Given the description of an element on the screen output the (x, y) to click on. 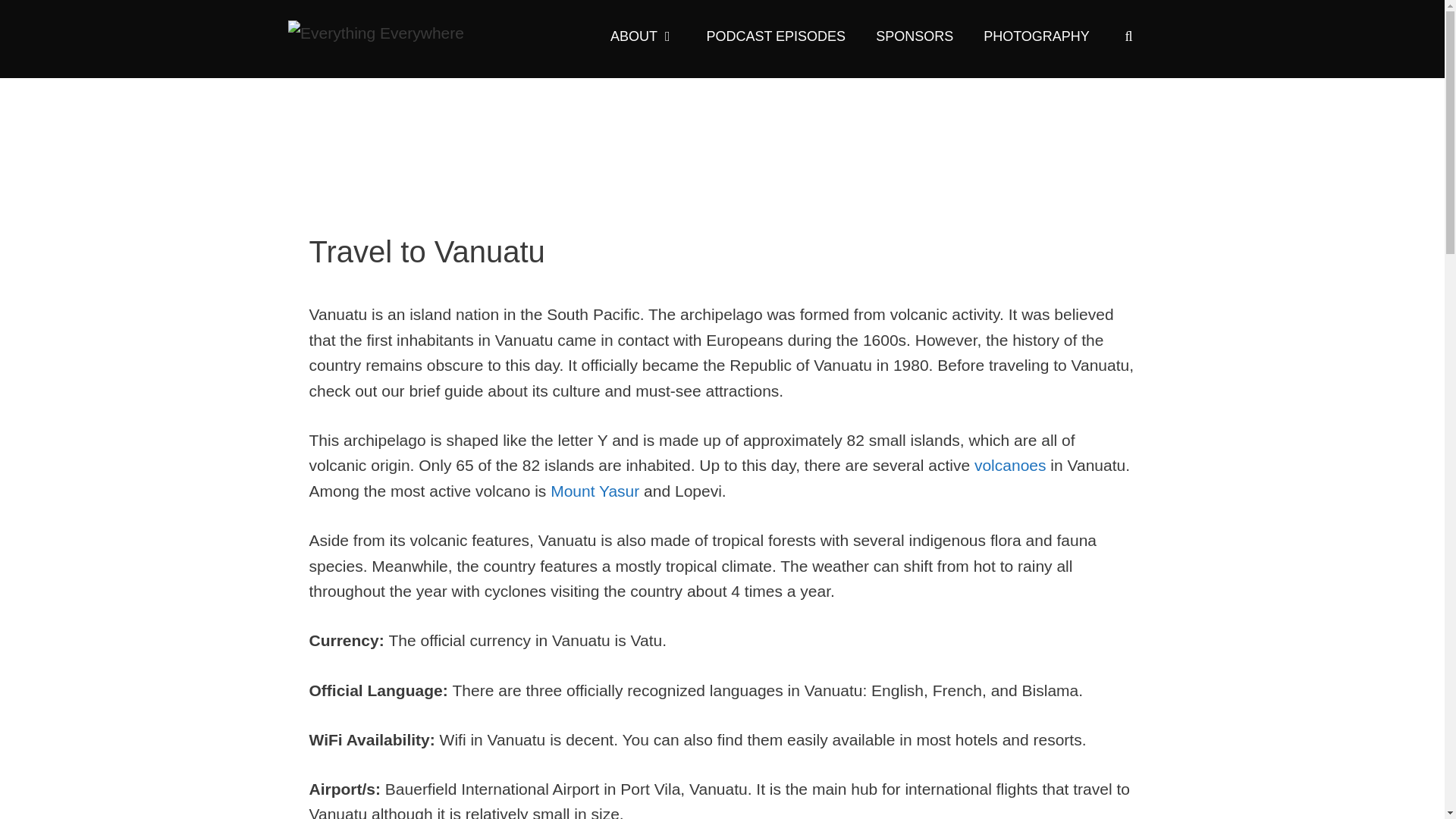
Search (41, 20)
Travel to Vanuatu (721, 150)
PHOTOGRAPHY (1036, 36)
Mount Yasur (594, 490)
volcanoes (1010, 465)
ABOUT (642, 36)
PODCAST EPISODES (775, 36)
SPONSORS (914, 36)
